Given the description of an element on the screen output the (x, y) to click on. 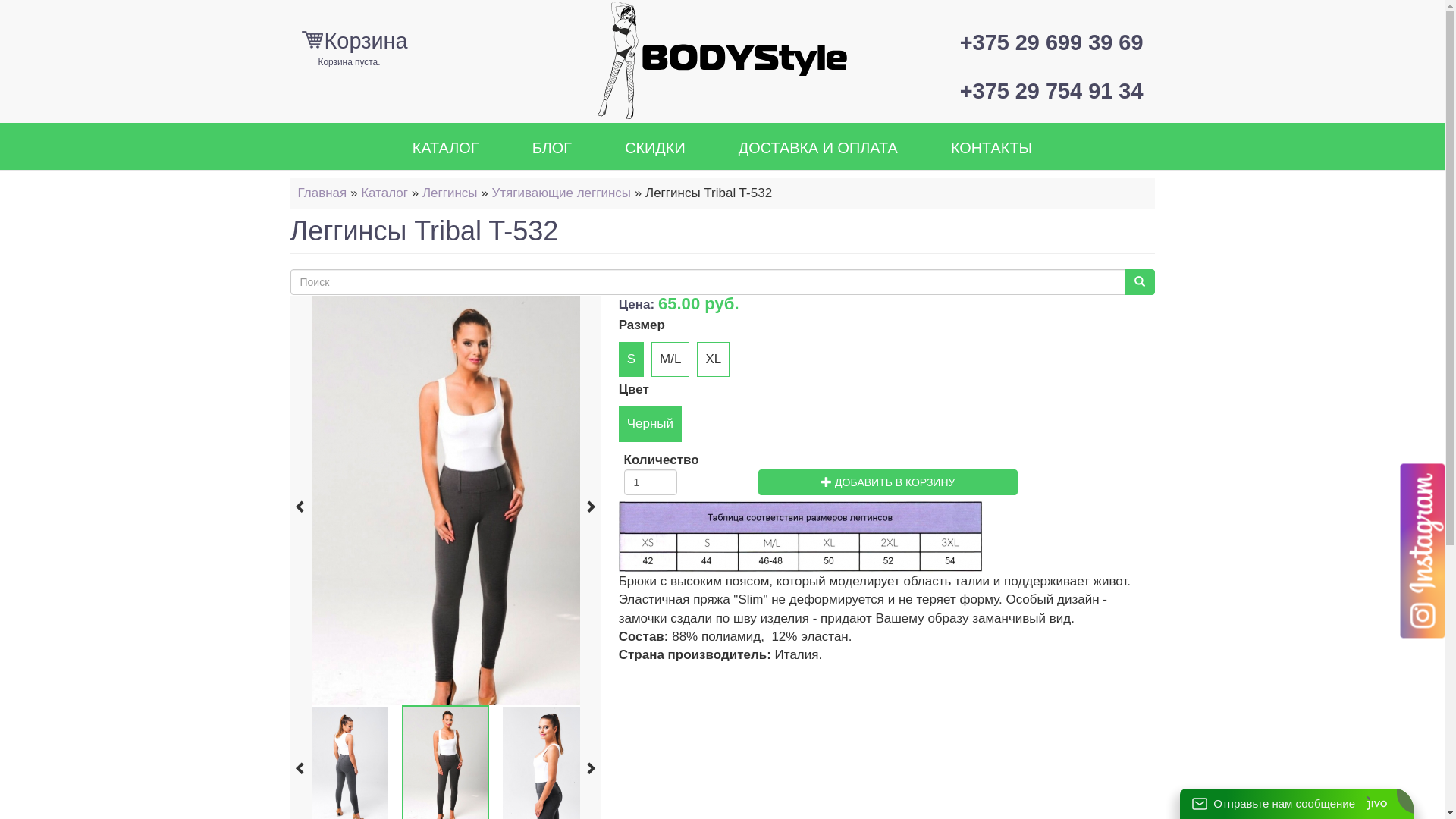
liekninancios-timpos-kelnes-tribal-2-1000x1194.jpg Element type: hover (462, 500)
+375 29 754 91 34 Element type: text (1045, 91)
+375 29 699 39 69 Element type: text (1045, 42)
